Given the description of an element on the screen output the (x, y) to click on. 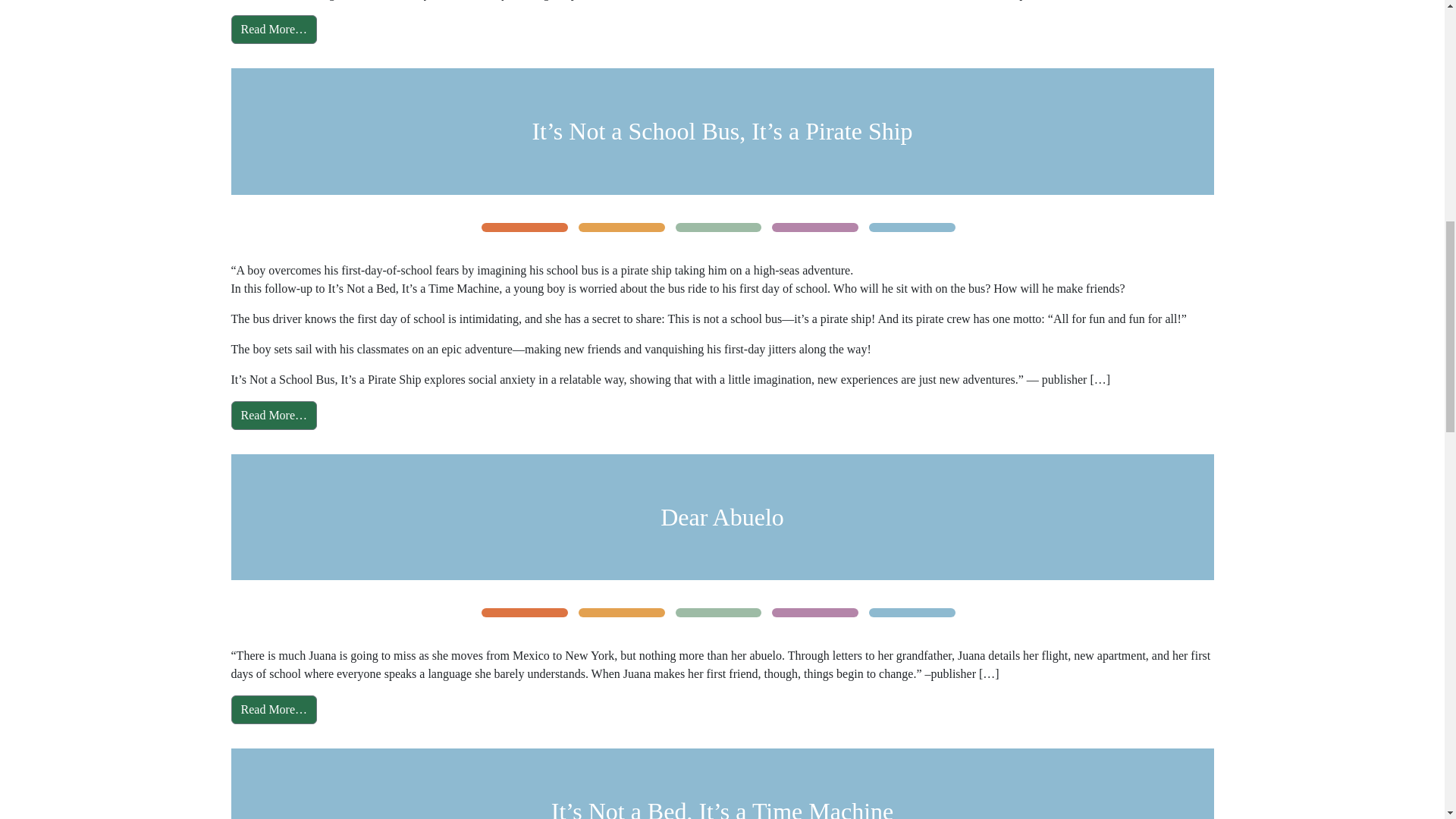
Dear Abuelo (722, 516)
